Given the description of an element on the screen output the (x, y) to click on. 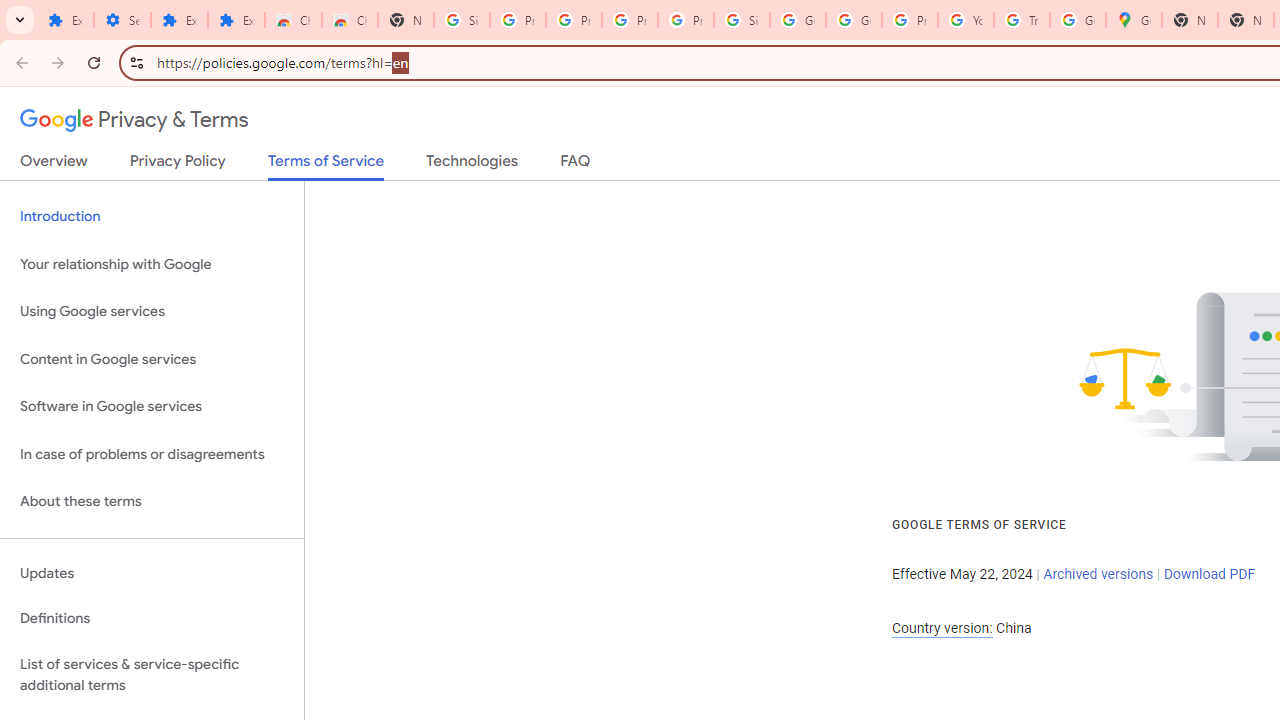
Google Maps (1133, 20)
Archived versions (1098, 574)
Extensions (65, 20)
Extensions (179, 20)
Your relationship with Google (152, 263)
Country version: (942, 628)
